Given the description of an element on the screen output the (x, y) to click on. 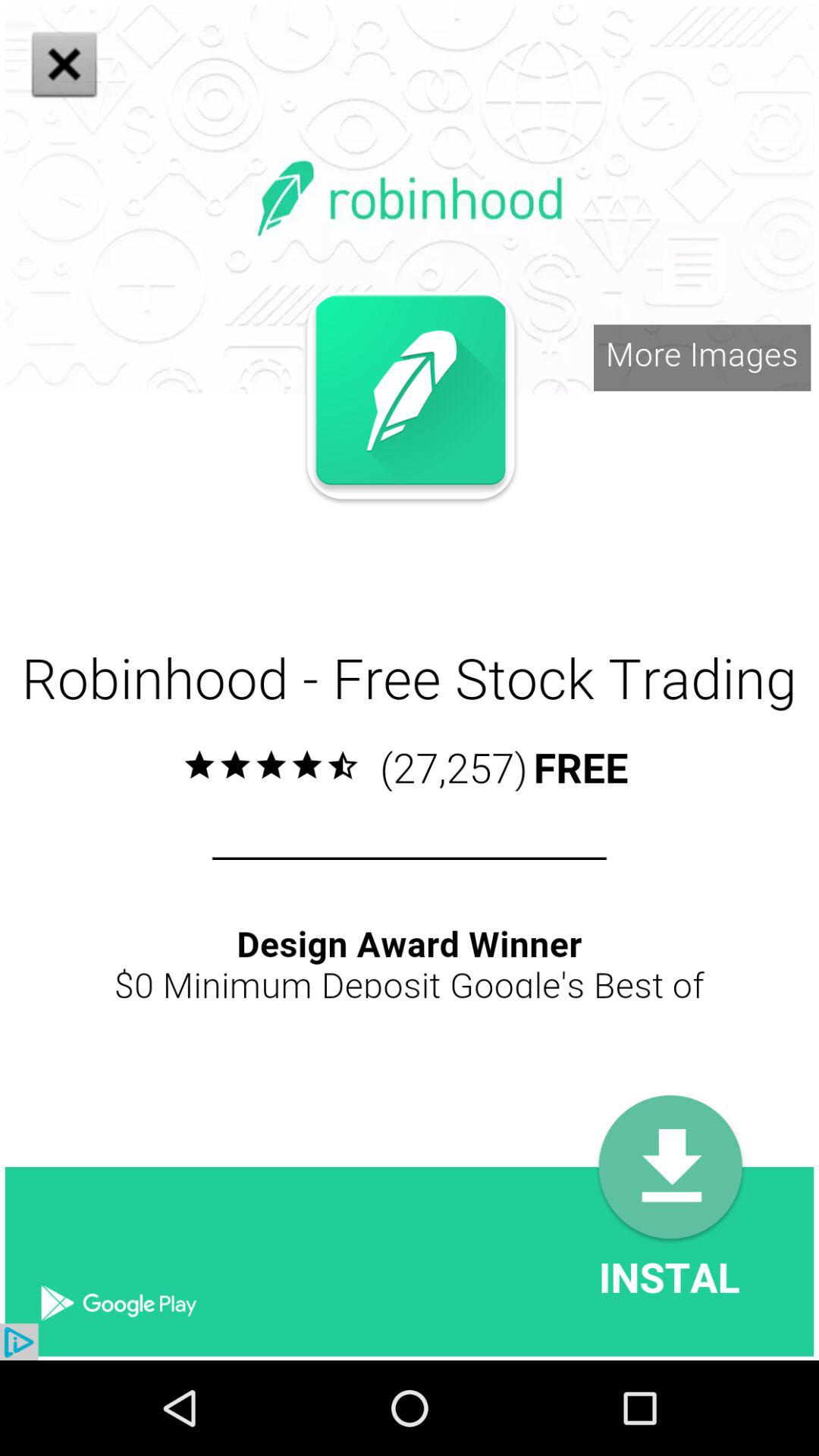
choose the selection (318, 528)
